Given the description of an element on the screen output the (x, y) to click on. 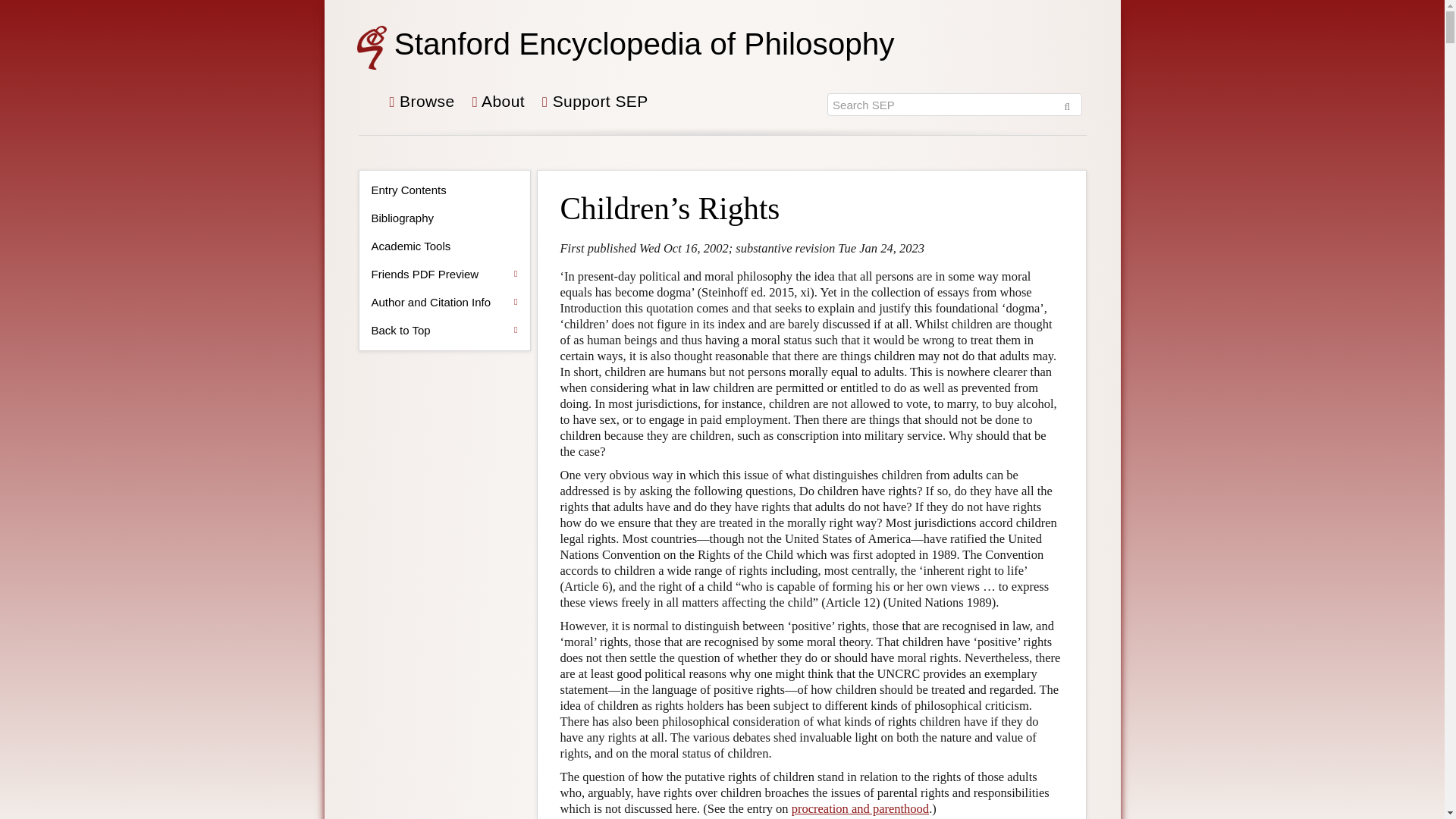
Academic Tools (444, 245)
Bibliography (444, 218)
procreation and parenthood (860, 808)
Friends PDF Preview (444, 275)
Entry Contents (444, 189)
Stanford Encyclopedia of Philosophy (644, 42)
Back to Top (444, 330)
About (498, 107)
Support SEP (595, 107)
Author and Citation Info (444, 302)
Browse (421, 107)
